Given the description of an element on the screen output the (x, y) to click on. 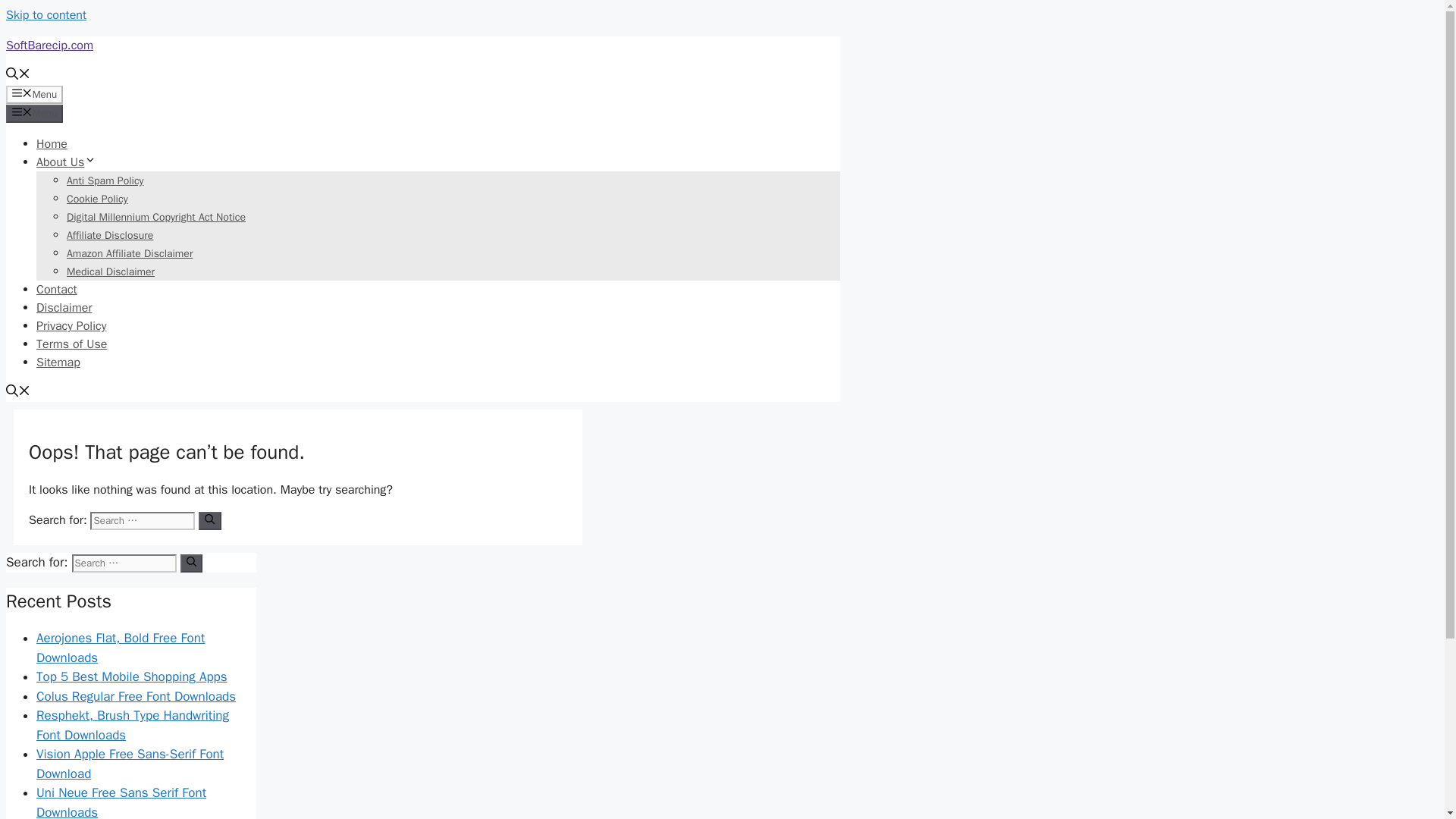
Aerojones Flat, Bold Free Font Downloads (1018, 298)
Terms of Use (985, 37)
Colus Regular Free Font Downloads (1034, 358)
Search for: (370, 241)
What to Lookout for When Choosing a Laptop (1035, 529)
Uni Neue Free Sans Serif Font Downloads (1018, 484)
Top Android Video Editor Apps (1018, 609)
About Us (642, 37)
Home (565, 37)
Contact (724, 37)
